Given the description of an element on the screen output the (x, y) to click on. 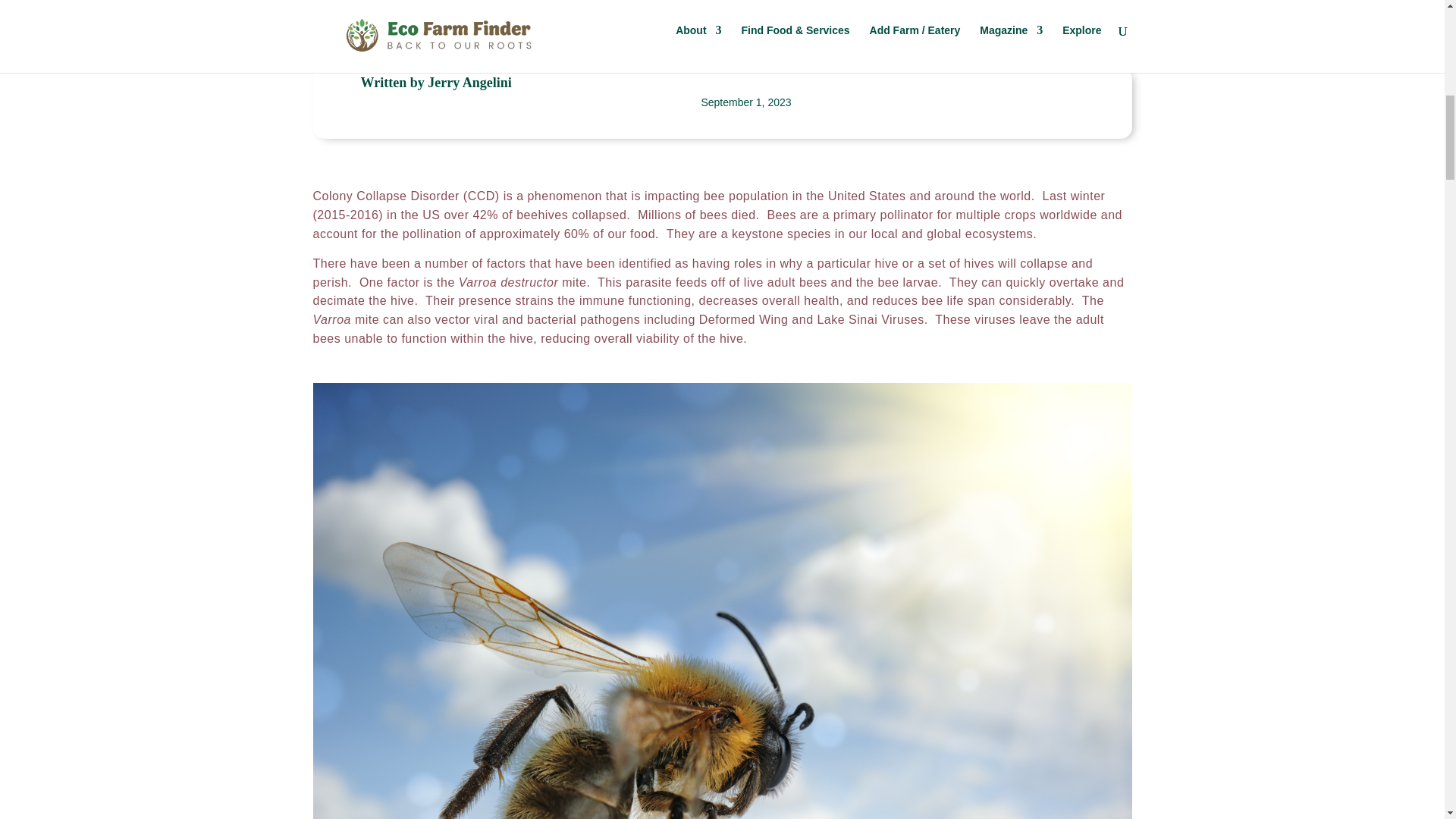
Written by (394, 82)
Jerry Angelini (470, 82)
